Given the description of an element on the screen output the (x, y) to click on. 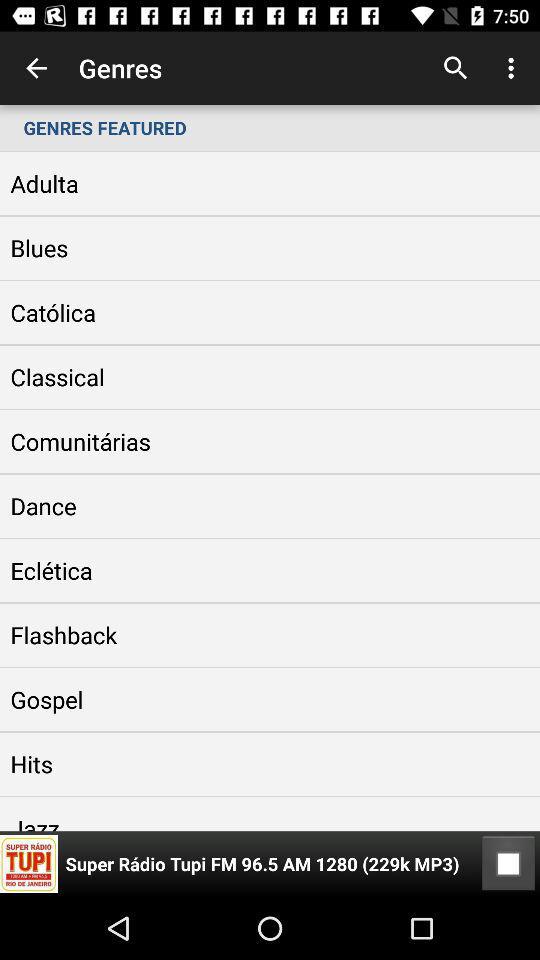
tap item next to genres icon (36, 68)
